Given the description of an element on the screen output the (x, y) to click on. 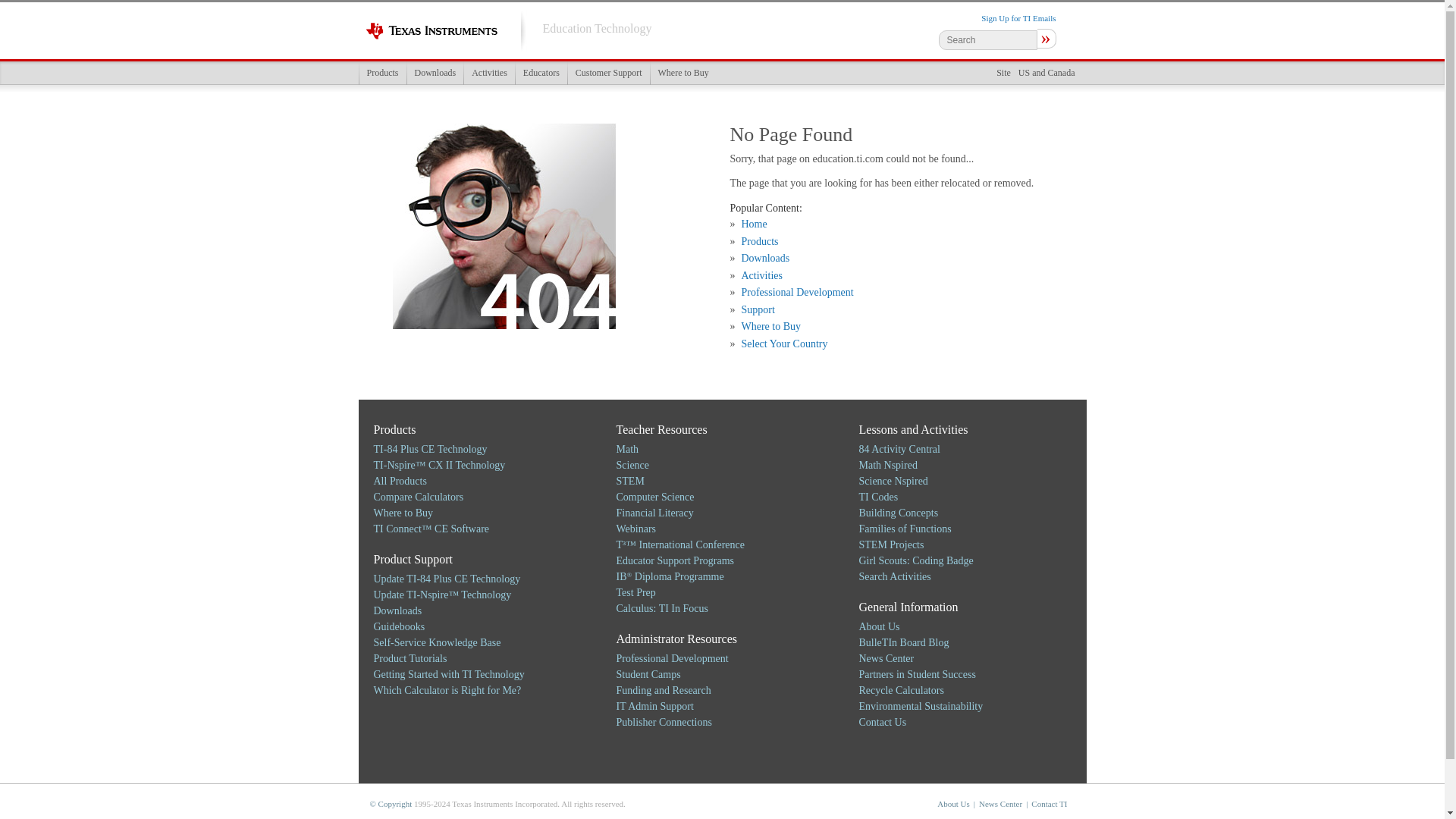
Which Calculator is Right for Me? (446, 690)
Downloads (435, 73)
All Products (399, 480)
Guidebooks (398, 626)
Getting Started with TI Technology (448, 674)
Update TI-84 Plus CE Technology (445, 578)
Educators (541, 73)
Compare Calculators (417, 496)
Update TI-Nspire Technology (441, 594)
TI-84 Plus CE Technology (429, 449)
Math (627, 449)
Products (382, 73)
Science (632, 464)
Product Tutorials (409, 658)
Downloads (397, 610)
